Given the description of an element on the screen output the (x, y) to click on. 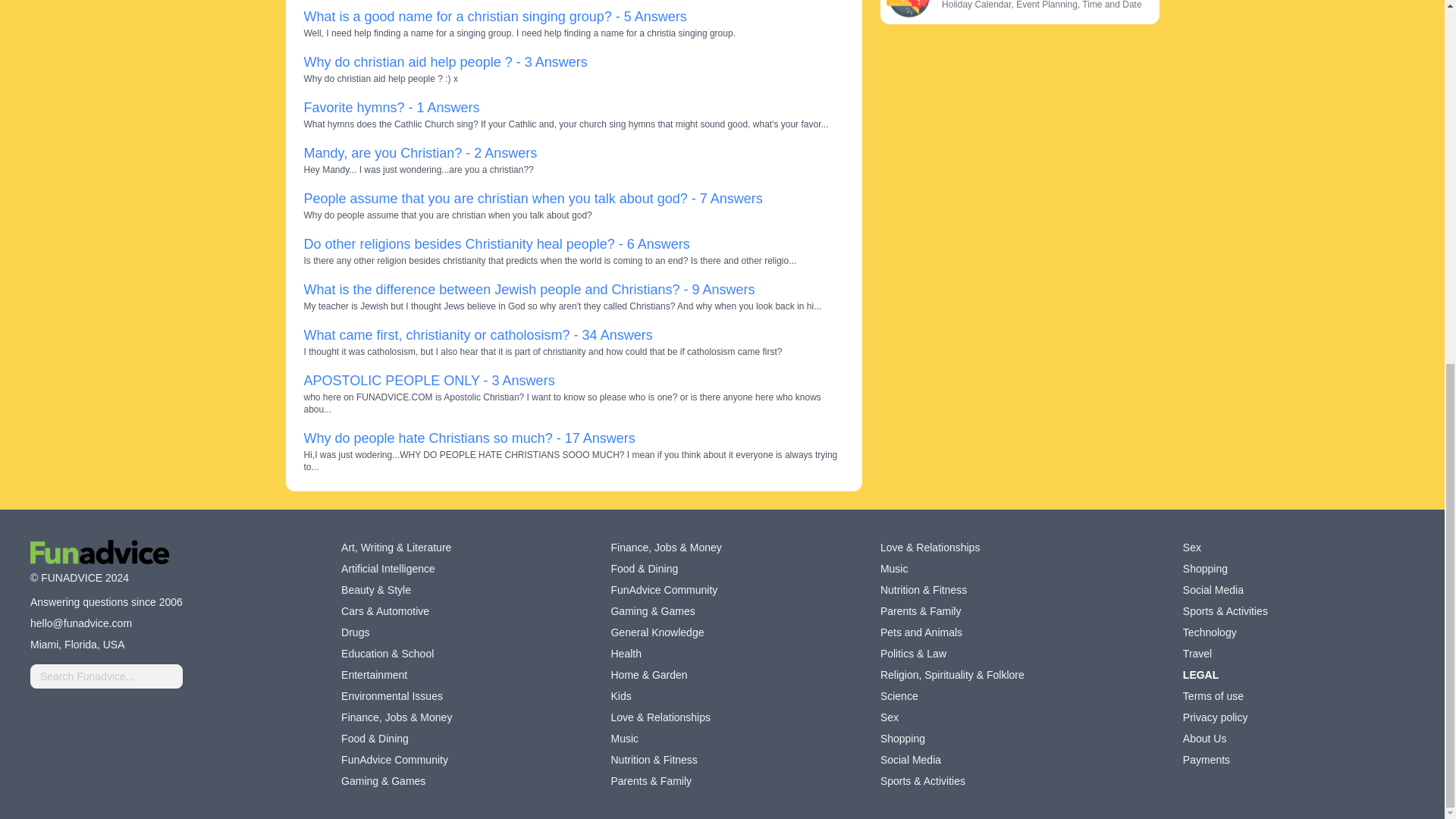
APOSTOLIC PEOPLE ONLY - 3 Answers (428, 380)
Artificial Intelligence (387, 568)
Why do christian aid help people ? - 3 Answers (444, 61)
What came first, christianity or catholosism? - 34 Answers (477, 335)
Type Calendar (907, 9)
Mandy, are you Christian? - 2 Answers (419, 152)
Why do people hate Christians so much? - 17 Answers (468, 437)
Favorite hymns? - 1 Answers (390, 107)
